Given the description of an element on the screen output the (x, y) to click on. 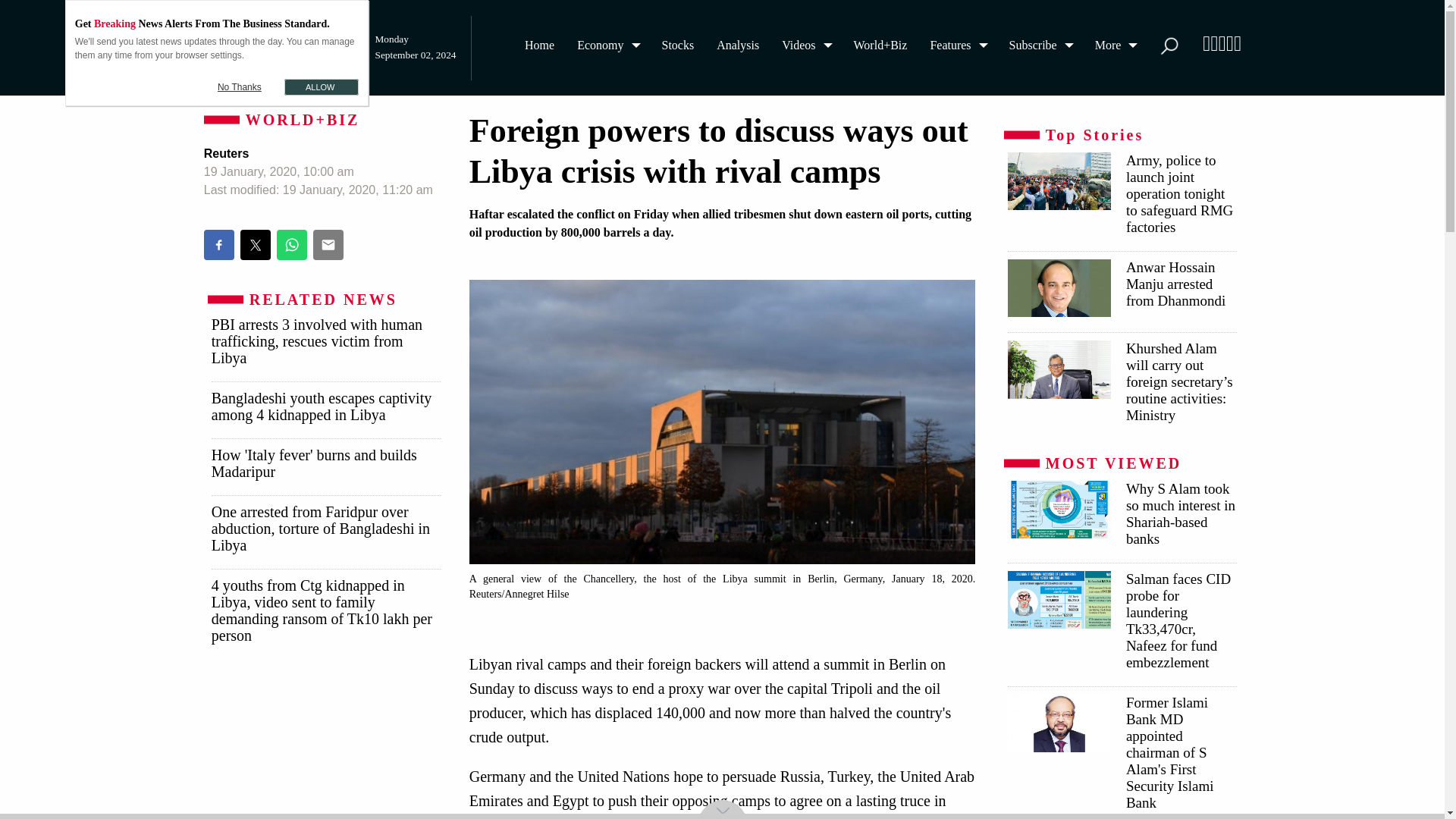
    ALLOW      (320, 86)
No Thanks (239, 86)
